Given the description of an element on the screen output the (x, y) to click on. 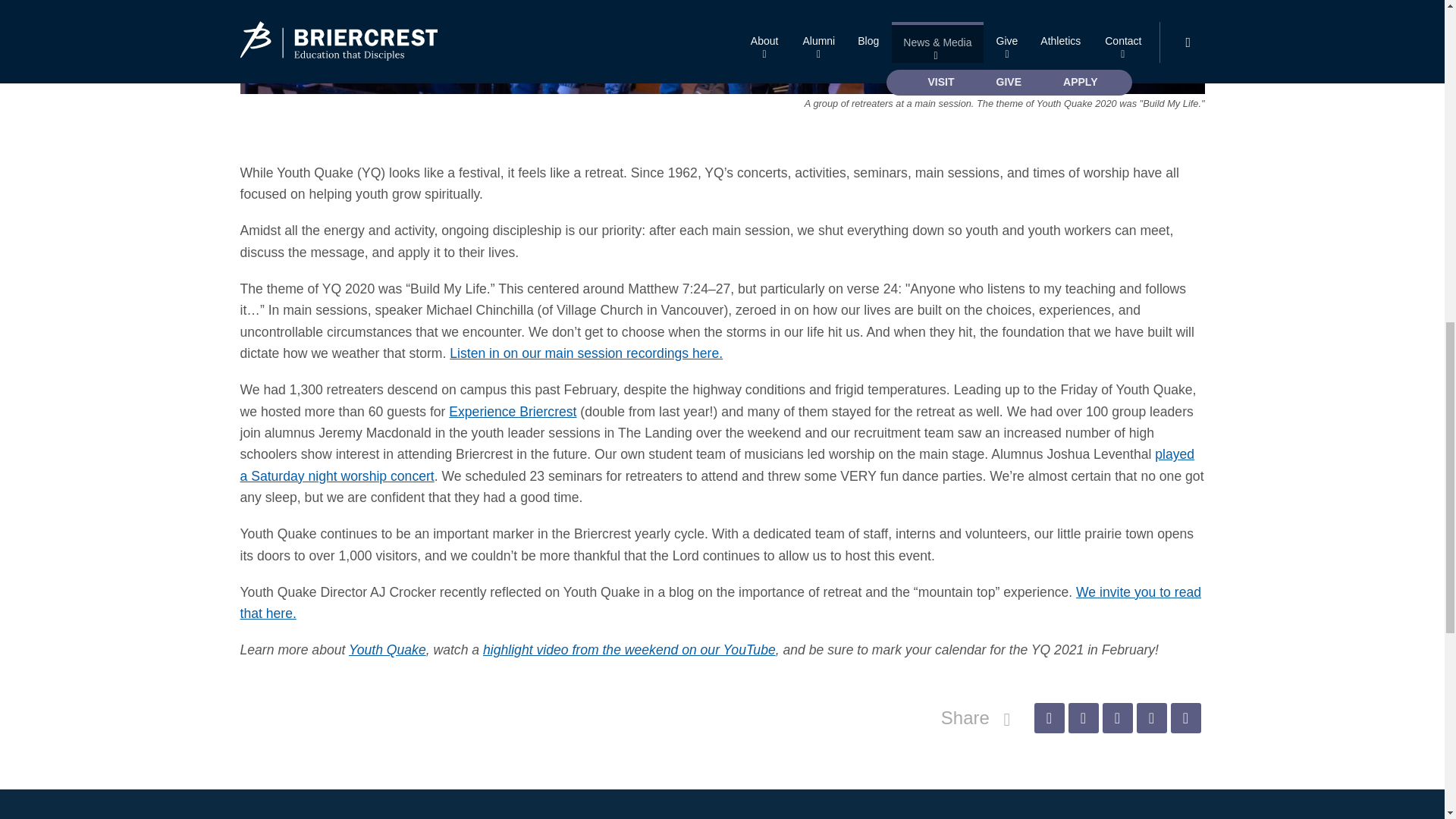
share this to Pinterest (1117, 717)
share this to my Facebook page (1048, 717)
share this to LinkedIn (1150, 717)
share this to my Twitter account (1082, 717)
Youth Quake 2020 recap (722, 47)
